Given the description of an element on the screen output the (x, y) to click on. 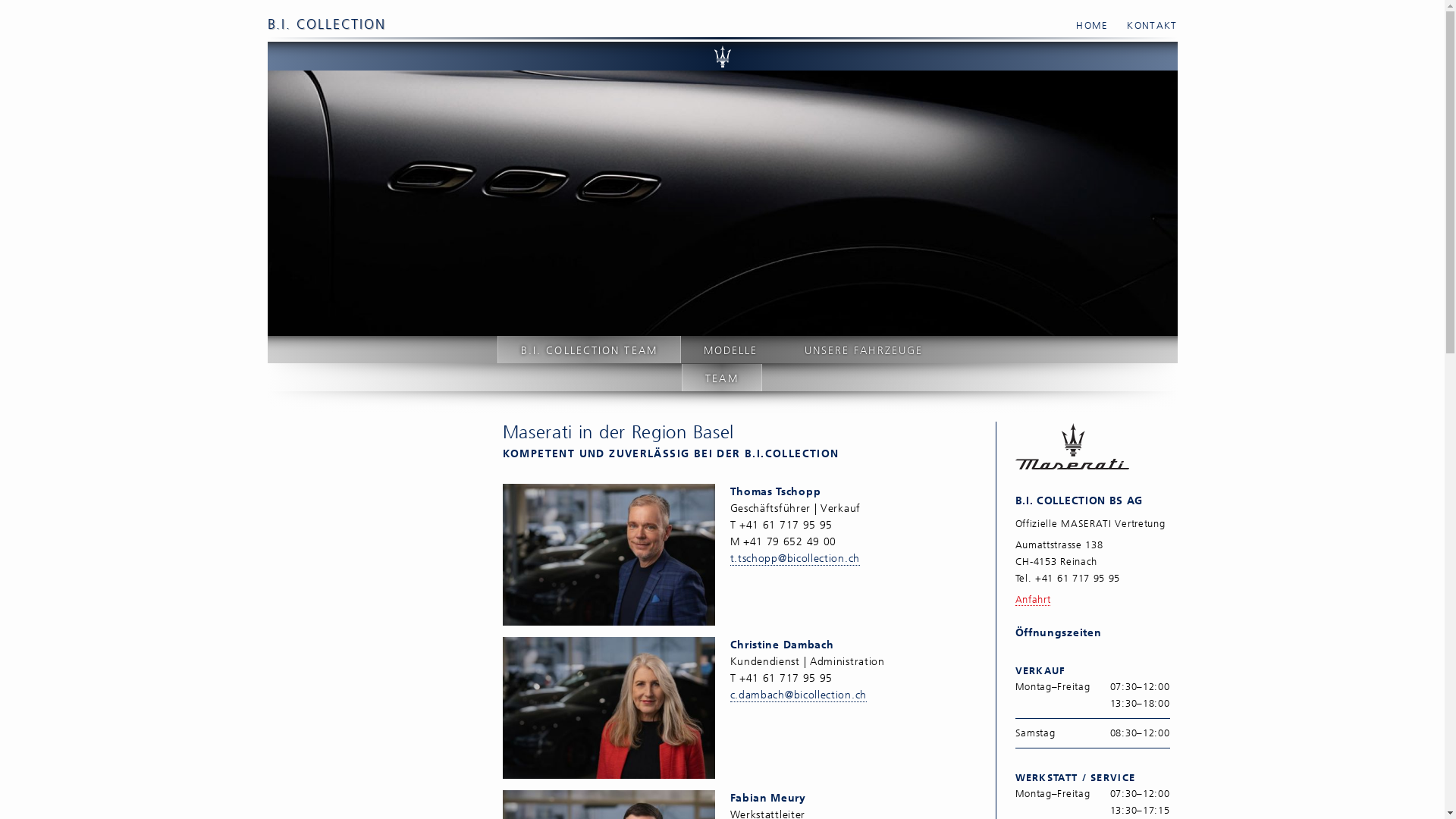
t.tschopp@bicollection.ch Element type: text (794, 558)
Anfahrt Element type: text (1032, 599)
B.I. COLLECTION Element type: text (325, 24)
B.I. COLLECTION TEAM Element type: text (588, 348)
TEAM Element type: text (721, 377)
MODELLE Element type: text (730, 348)
HOME Element type: text (1083, 25)
c.dambach@bicollection.ch Element type: text (797, 695)
UNSERE FAHRZEUGE Element type: text (864, 348)
KONTAKT Element type: text (1143, 25)
